Given the description of an element on the screen output the (x, y) to click on. 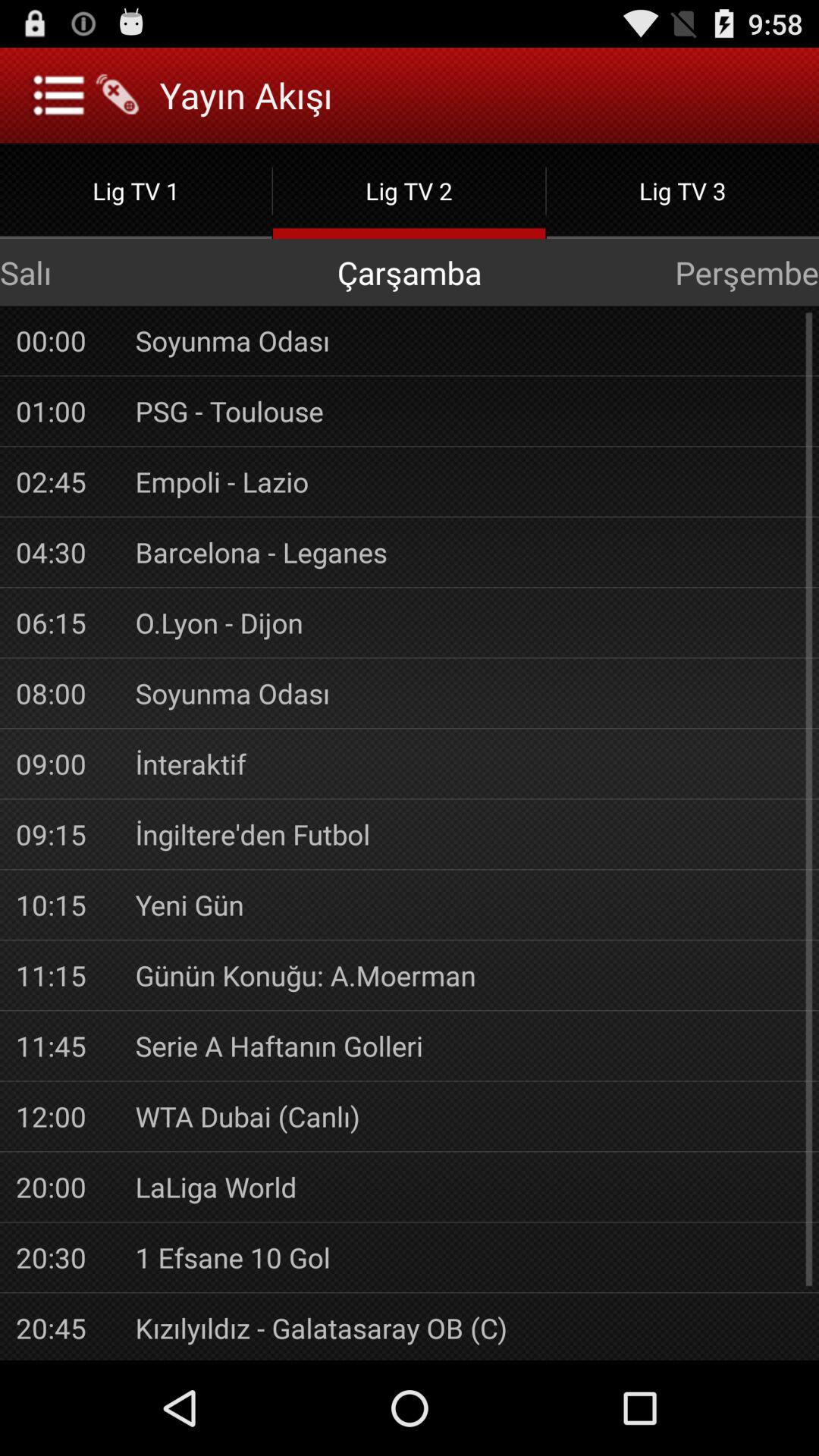
swipe until the psg - toulouse (469, 410)
